Given the description of an element on the screen output the (x, y) to click on. 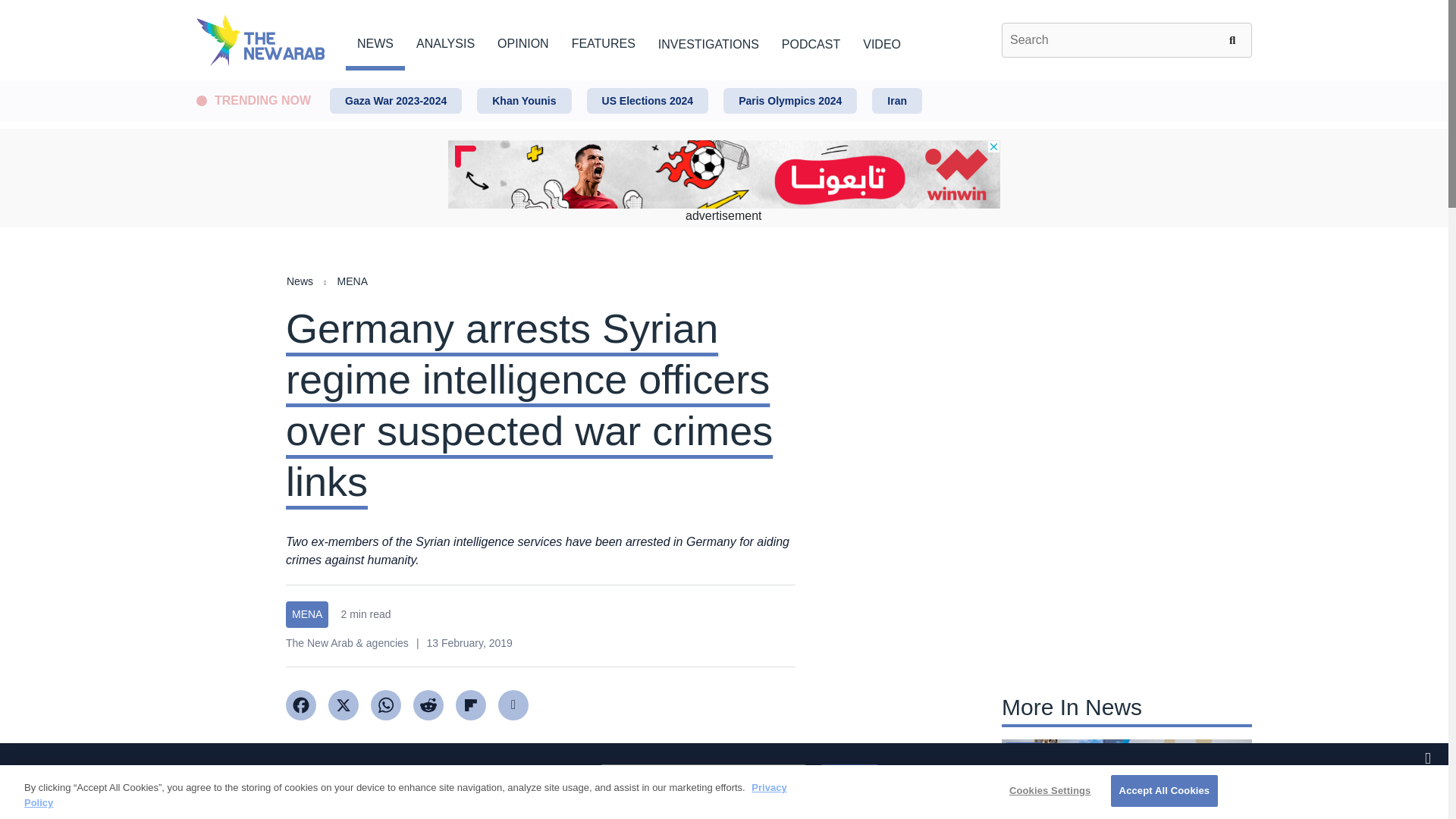
NEWS (375, 41)
OPINION (523, 41)
Skip to main content (724, 81)
ANALYSIS (445, 41)
Search (1234, 39)
